Given the description of an element on the screen output the (x, y) to click on. 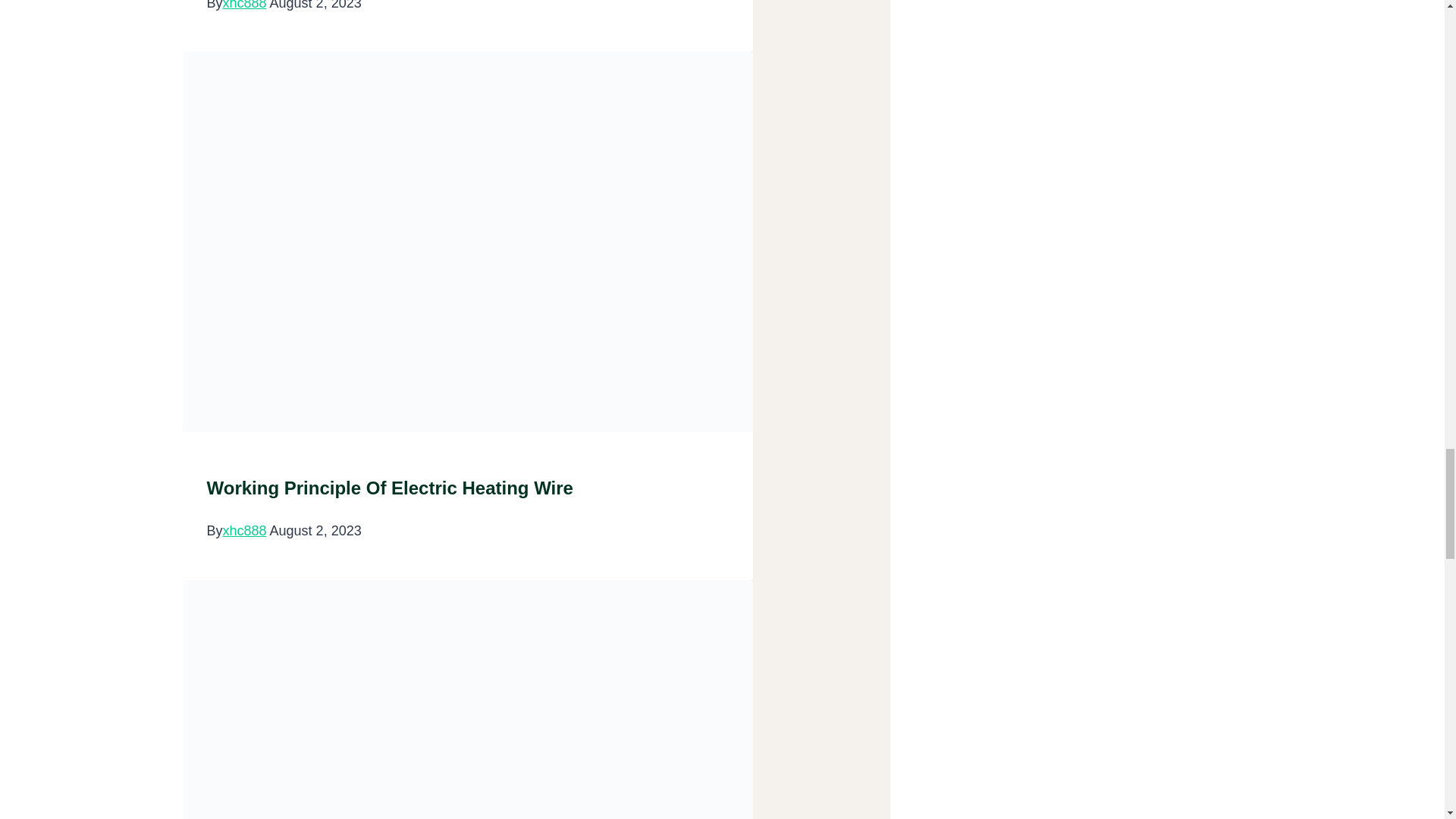
xhc888 (244, 530)
Working Principle Of Electric Heating Wire (389, 487)
xhc888 (244, 5)
